Given the description of an element on the screen output the (x, y) to click on. 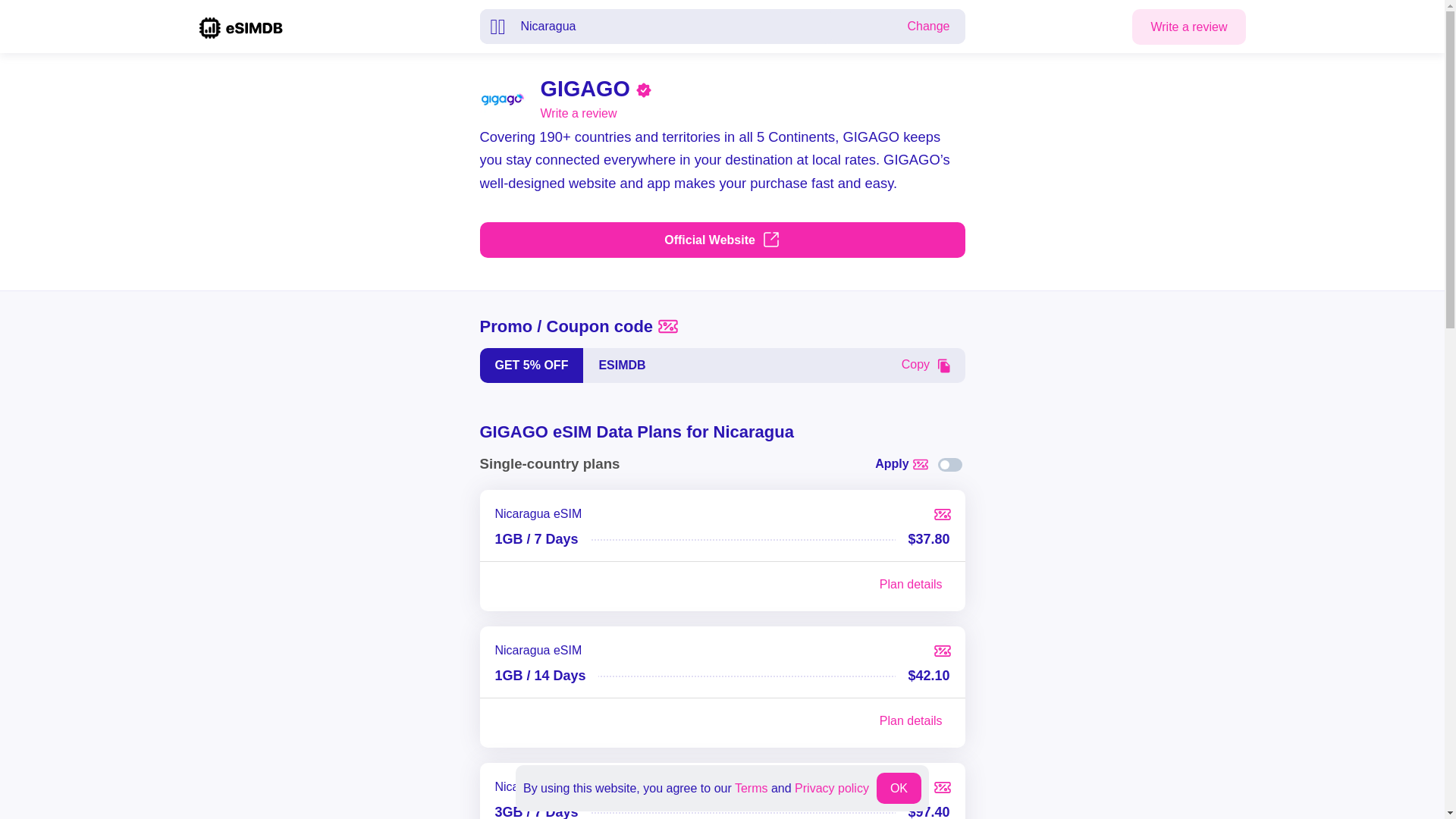
Plan details (911, 721)
Copy (925, 364)
OK (898, 788)
Plan details (911, 584)
ESIMDB (734, 365)
Write a review (1188, 27)
Write a review (577, 113)
Terms (751, 787)
Privacy policy (831, 787)
Official Website   (721, 239)
